Given the description of an element on the screen output the (x, y) to click on. 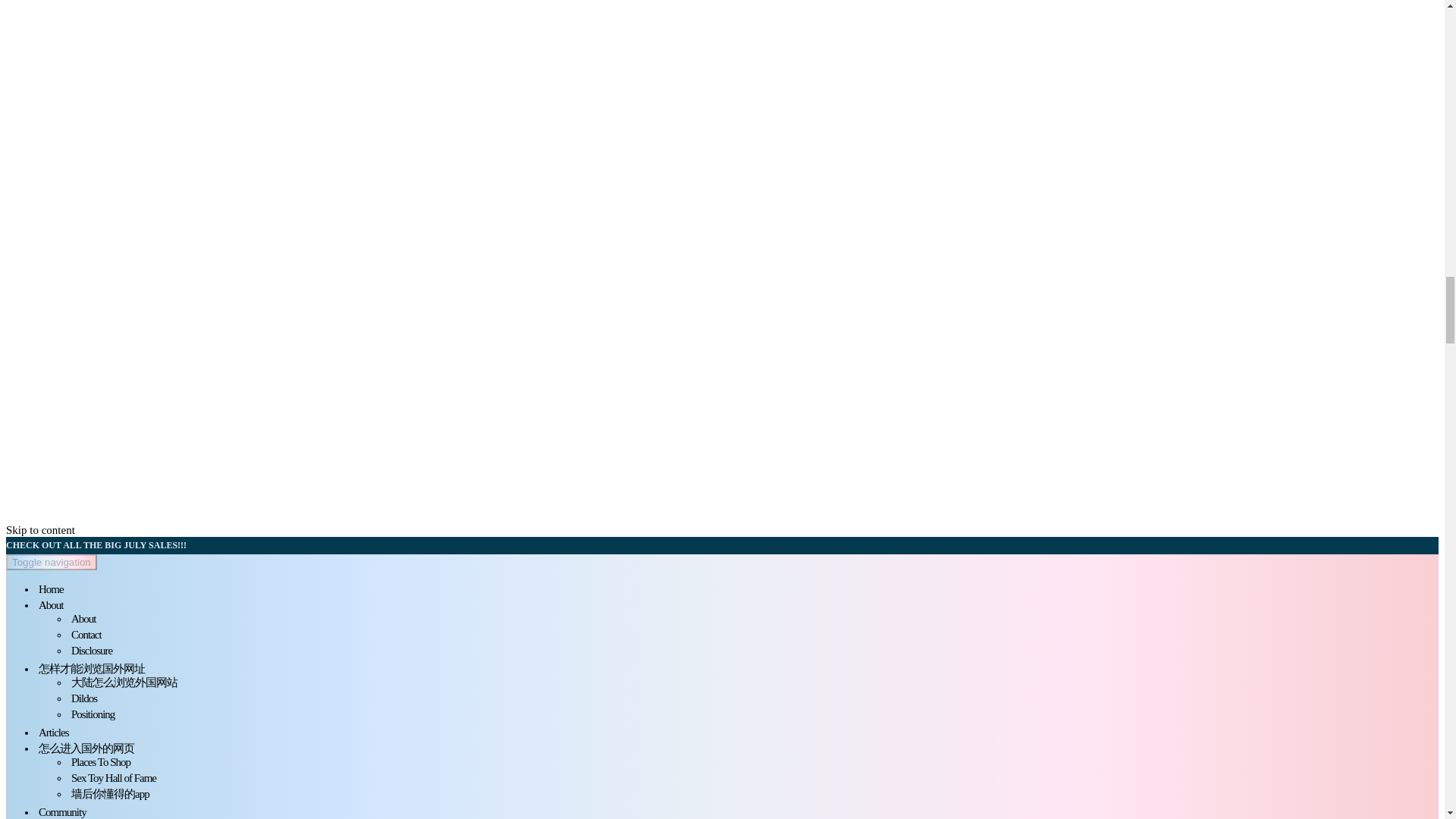
Toggle navigation (51, 562)
